Given the description of an element on the screen output the (x, y) to click on. 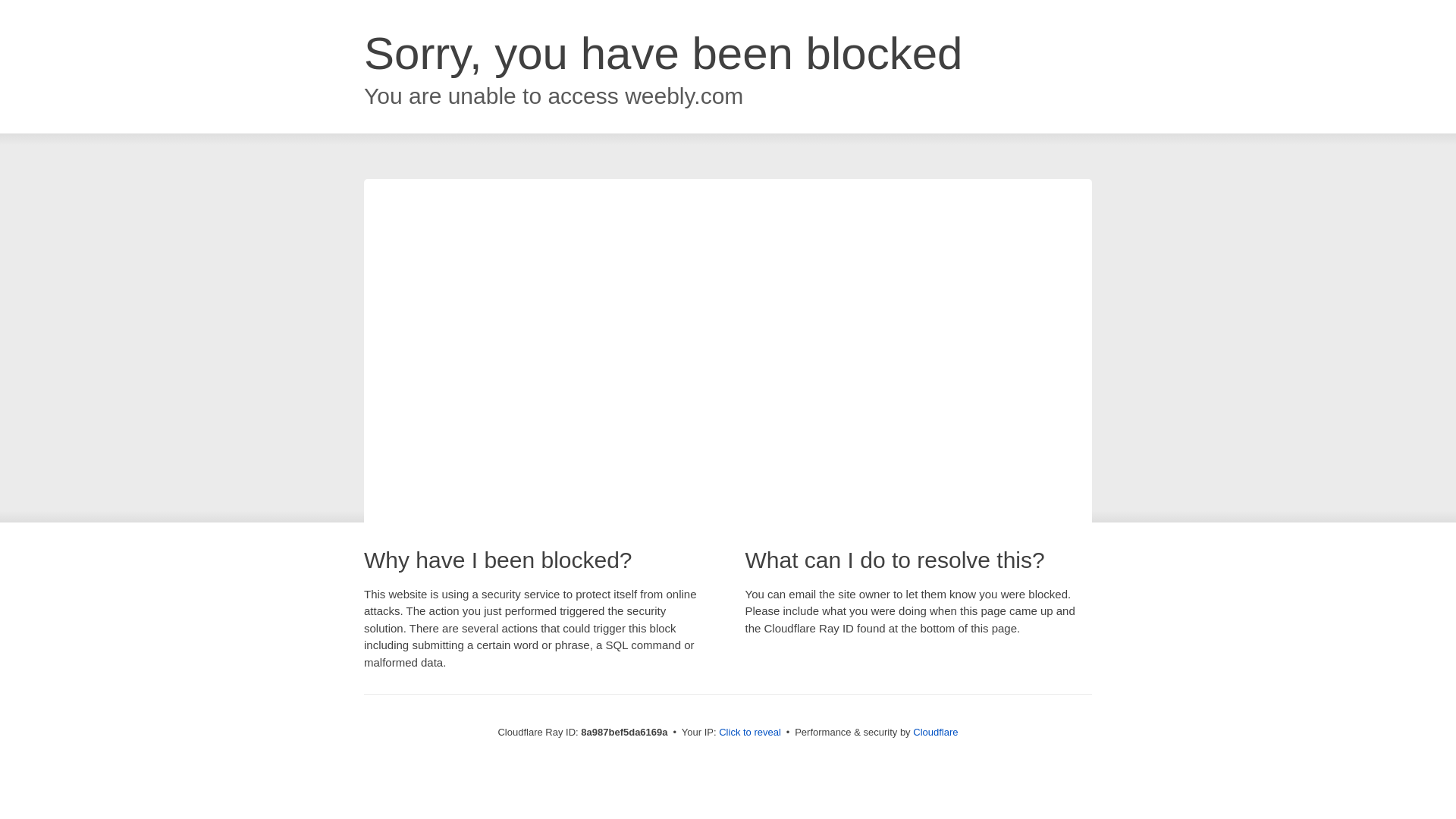
Click to reveal (749, 732)
Cloudflare (935, 731)
